Given the description of an element on the screen output the (x, y) to click on. 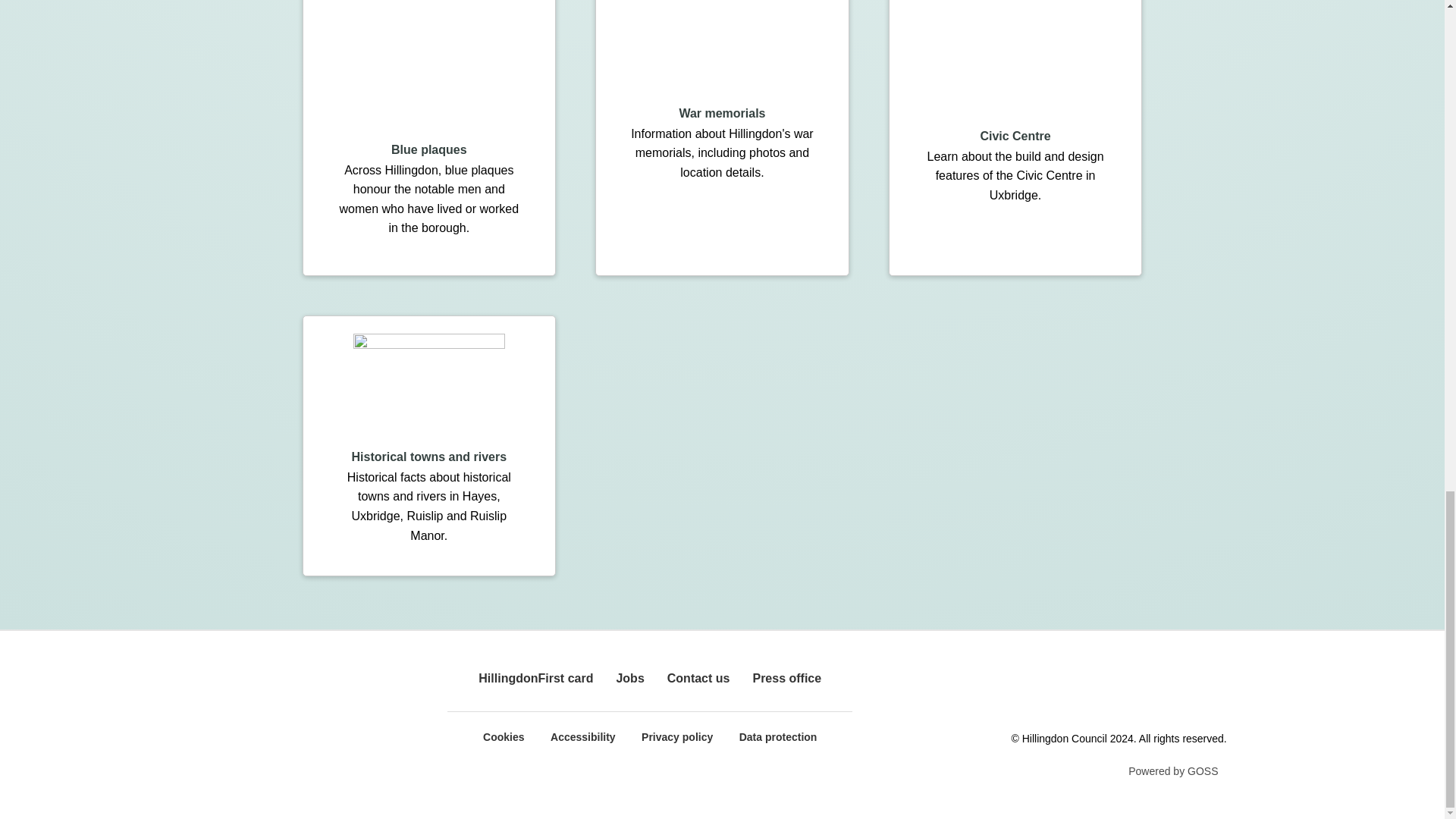
Privacy policy (677, 736)
Contact us (698, 677)
Blue plaques (429, 149)
Press office (786, 677)
Jobs (629, 677)
Web content management by GOSS iCM (1172, 773)
Facebook (1029, 693)
Accessibility (582, 736)
Civic Centre (1014, 135)
Historical towns and rivers (429, 456)
Cookies (503, 736)
X (1073, 693)
Website translation (1206, 693)
HillingdonFirst card (535, 677)
War memorials (721, 113)
